Given the description of an element on the screen output the (x, y) to click on. 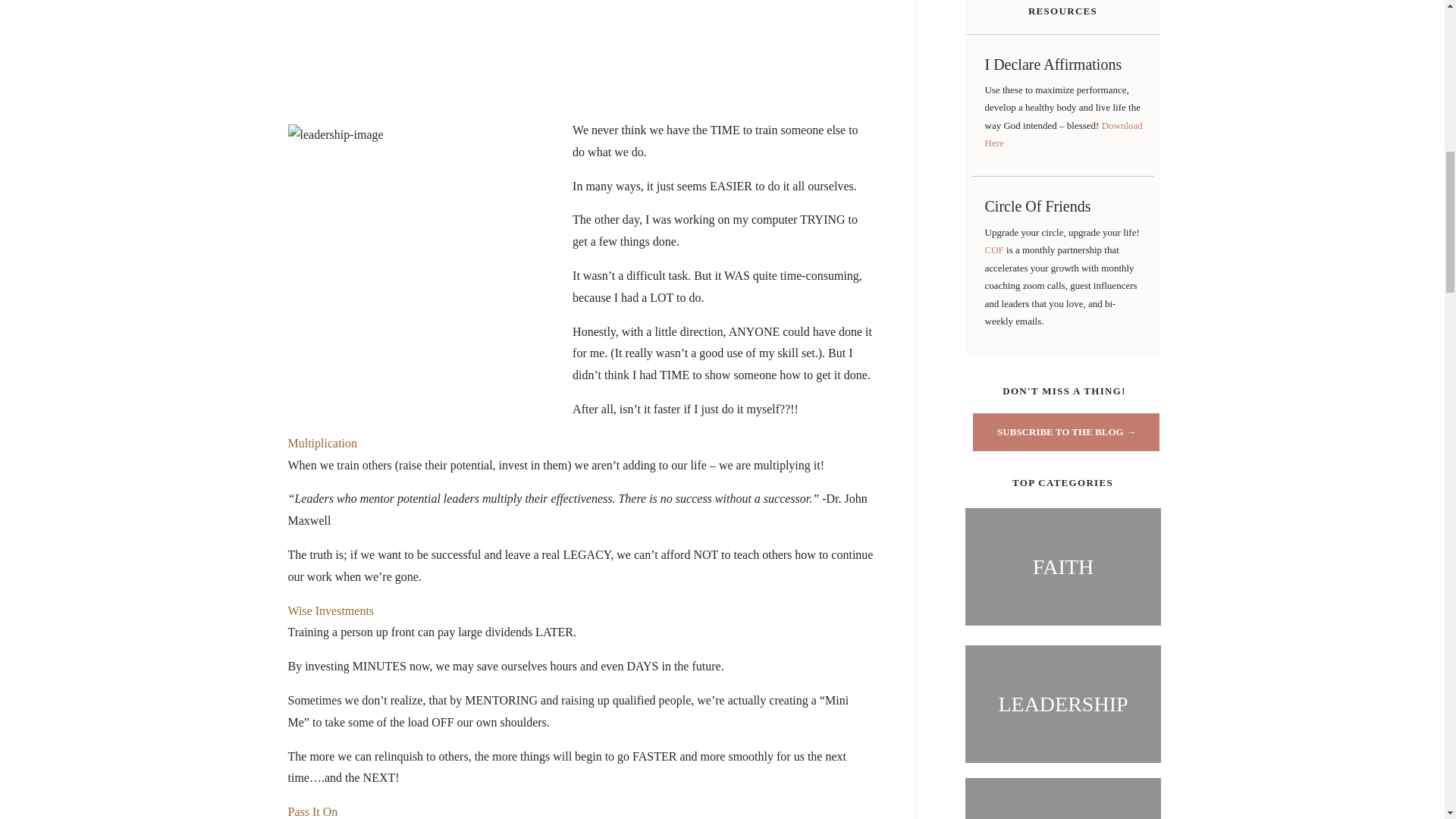
I Declare Affirmations (1062, 66)
Circle Of Friends (1062, 208)
Download Here (1062, 133)
LEADERSHIP (1062, 703)
FAITH (1062, 566)
COF (995, 249)
